Given the description of an element on the screen output the (x, y) to click on. 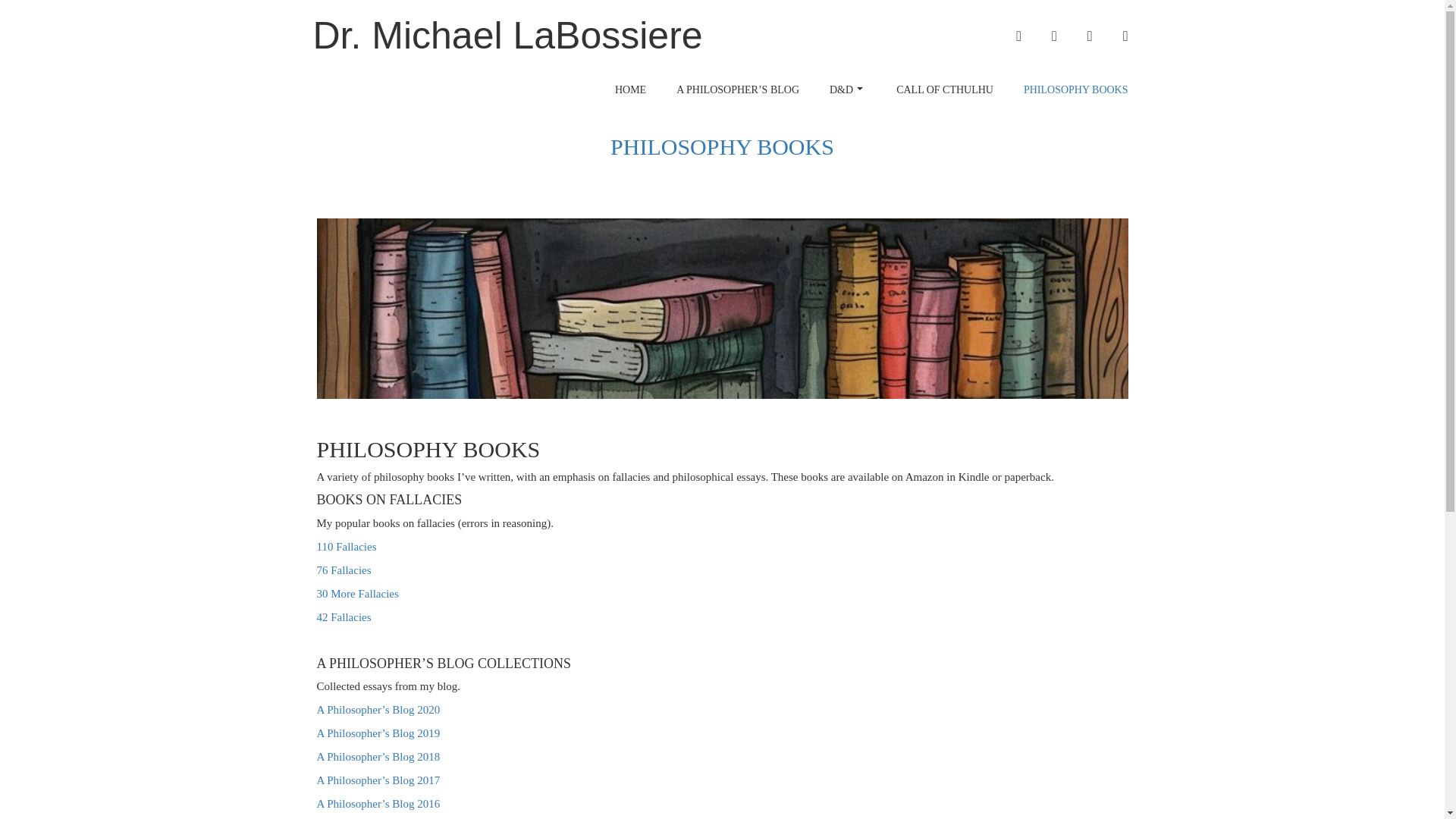
ETERNAL LIBRARY (1125, 36)
110 Fallacies (347, 546)
YOUTUBE (1089, 36)
CALL OF CTHULHU (944, 89)
FACEBOOK (1018, 36)
TWITTER (1053, 36)
Dr. Michael LaBossiere (507, 35)
42 Fallacies (344, 616)
HOME (630, 89)
PHILOSOPHY BOOKS (1075, 89)
76 Fallacies (344, 570)
30 More Fallacies (357, 593)
